Given the description of an element on the screen output the (x, y) to click on. 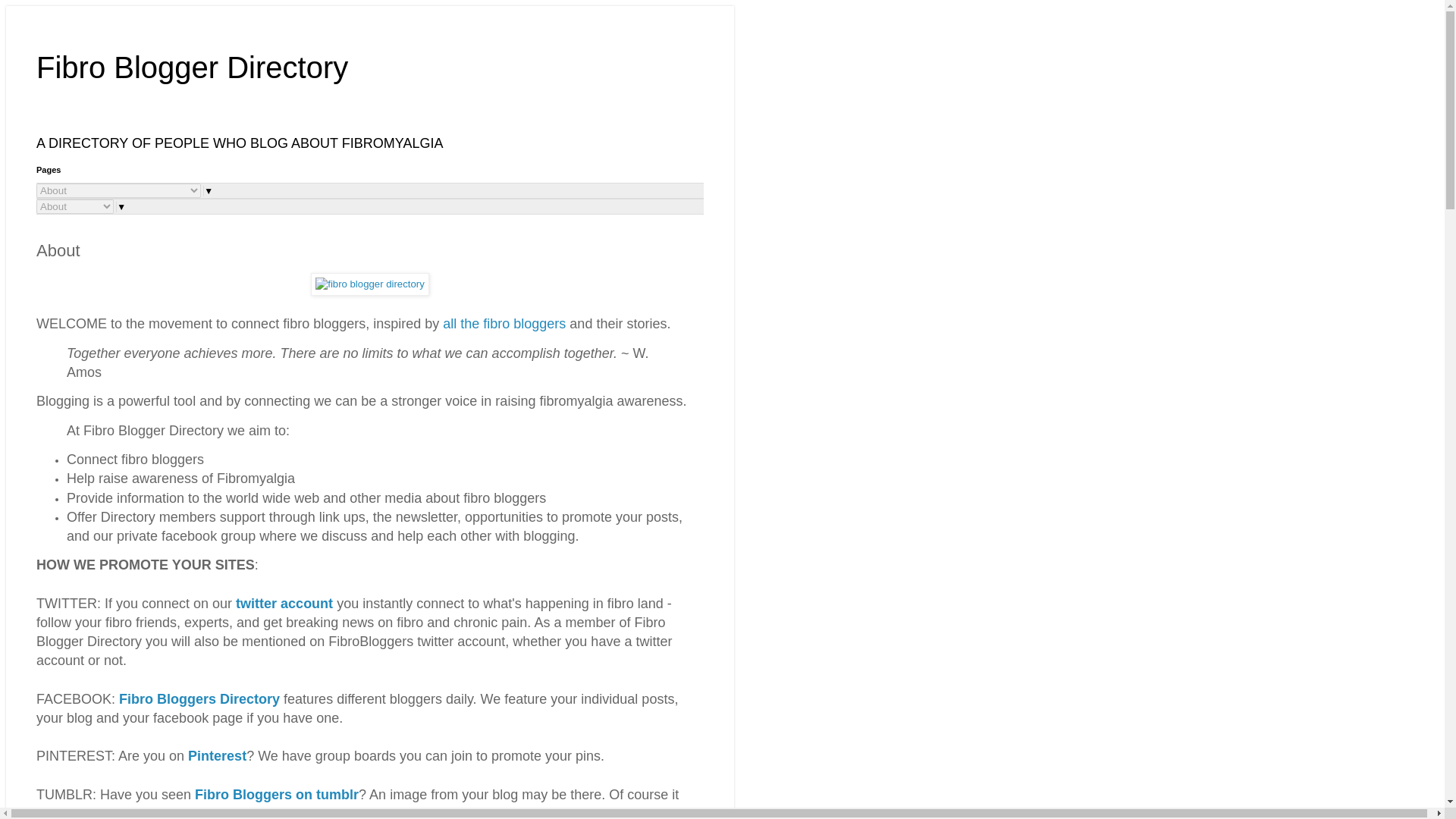
Pinterest (216, 755)
Fibro Bloggers Directory (199, 698)
twitter account (284, 603)
Fibro Bloggers on tumblr (276, 794)
About fibro blogger directory (370, 283)
all the fibro bloggers (505, 323)
Fibro Blogger Directory (191, 67)
